Given the description of an element on the screen output the (x, y) to click on. 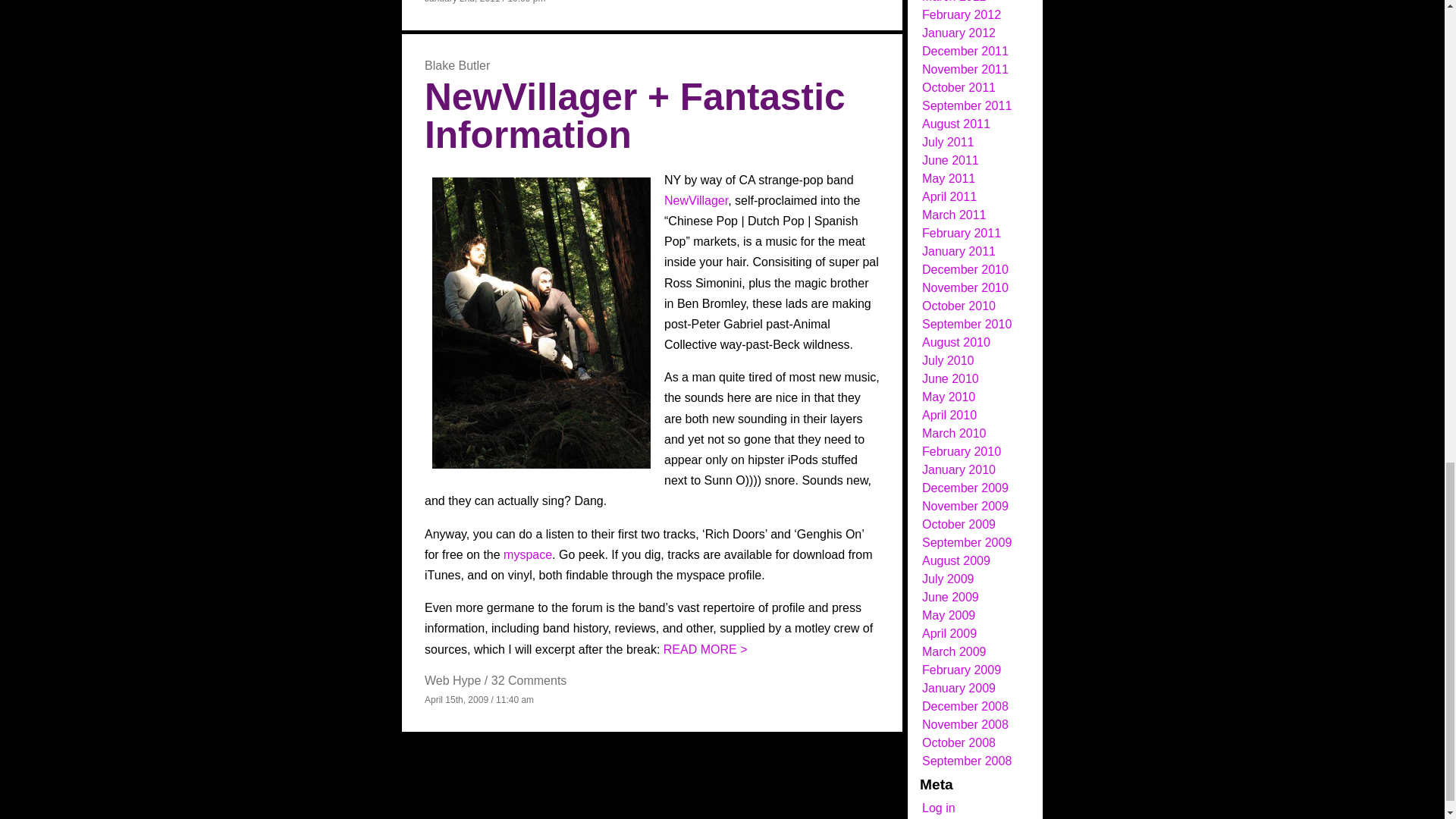
Blake Butler (457, 65)
Web Hype (452, 680)
myspace (527, 554)
NewVillager (695, 200)
32 Comments (529, 680)
Posts by Blake Butler (457, 65)
